Given the description of an element on the screen output the (x, y) to click on. 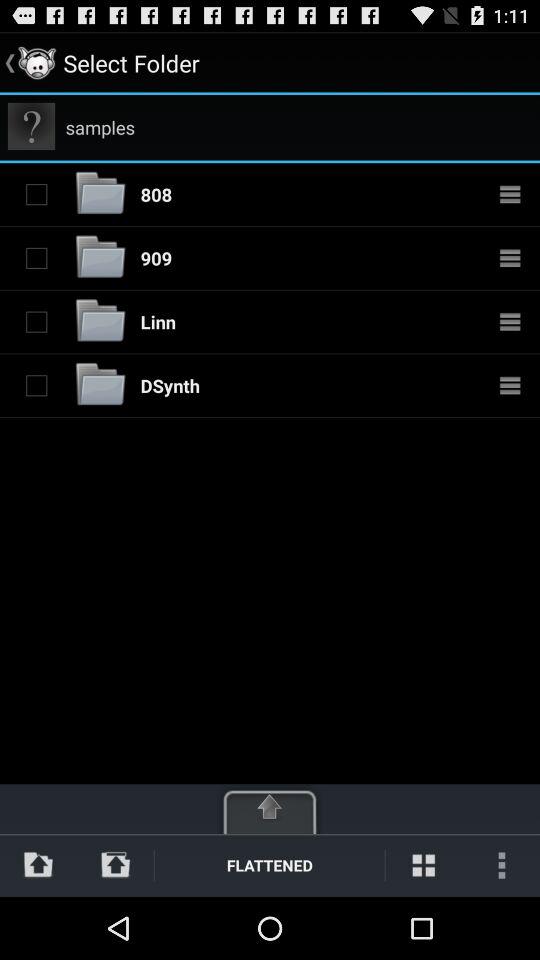
open folder (100, 257)
